Given the description of an element on the screen output the (x, y) to click on. 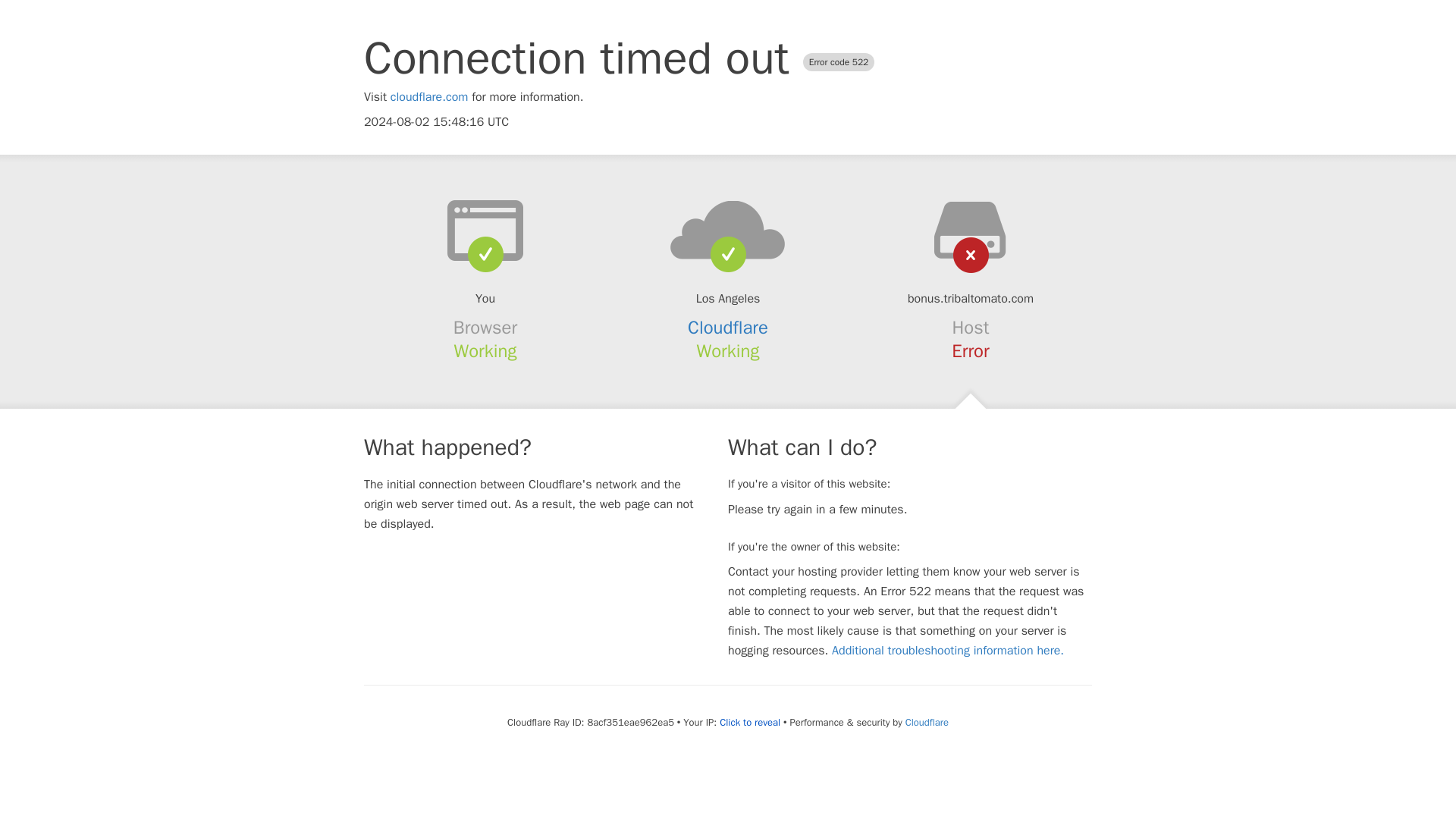
cloudflare.com (429, 96)
Additional troubleshooting information here. (947, 650)
Click to reveal (749, 722)
Cloudflare (727, 327)
Cloudflare (927, 721)
